Given the description of an element on the screen output the (x, y) to click on. 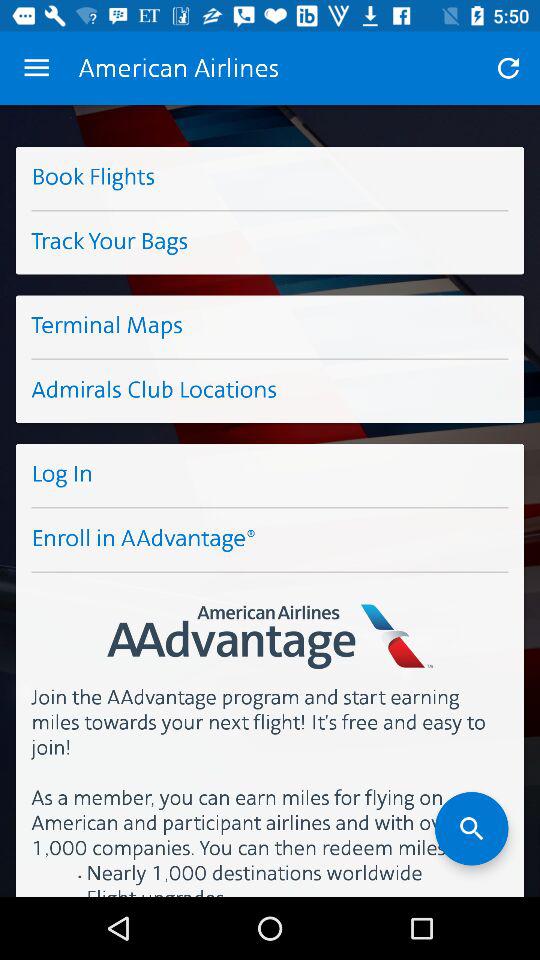
choose terminal maps (269, 326)
